Given the description of an element on the screen output the (x, y) to click on. 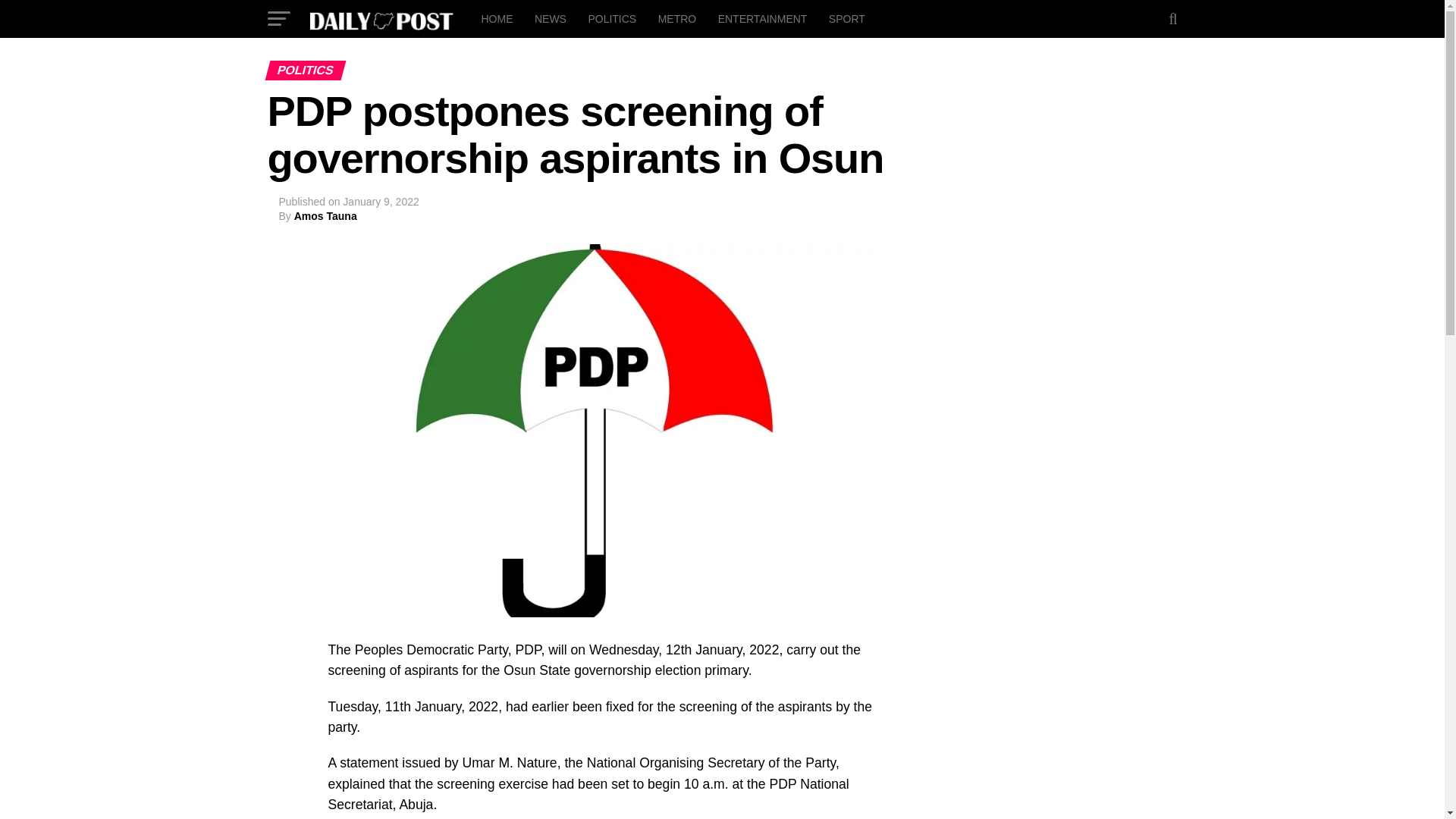
Posts by Amos Tauna (325, 215)
NEWS (550, 18)
Amos Tauna (325, 215)
POLITICS (611, 18)
SPORT (847, 18)
HOME (496, 18)
ENTERTAINMENT (762, 18)
METRO (677, 18)
